Given the description of an element on the screen output the (x, y) to click on. 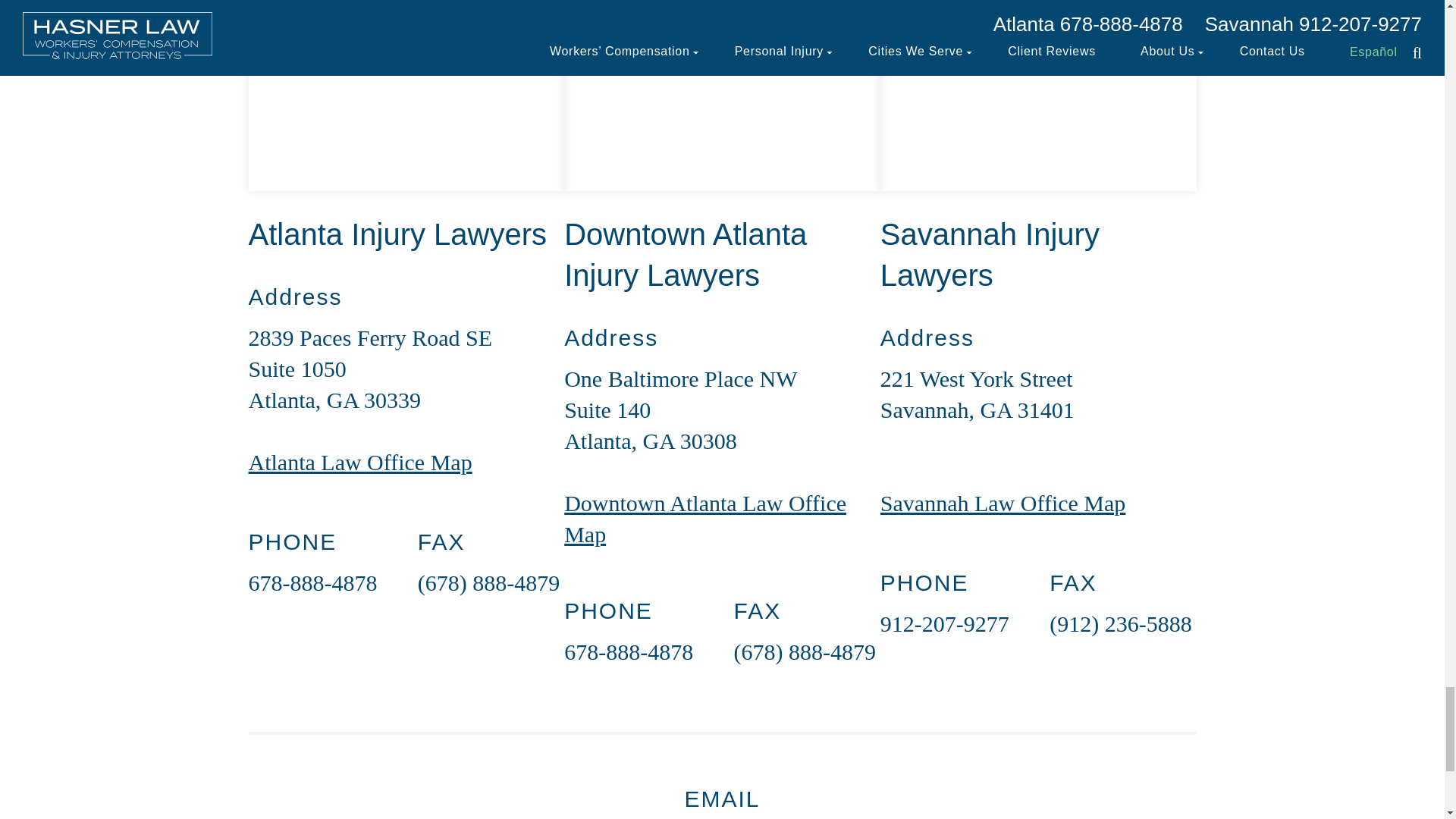
location map (406, 95)
location map (722, 95)
location map (1038, 95)
